Given the description of an element on the screen output the (x, y) to click on. 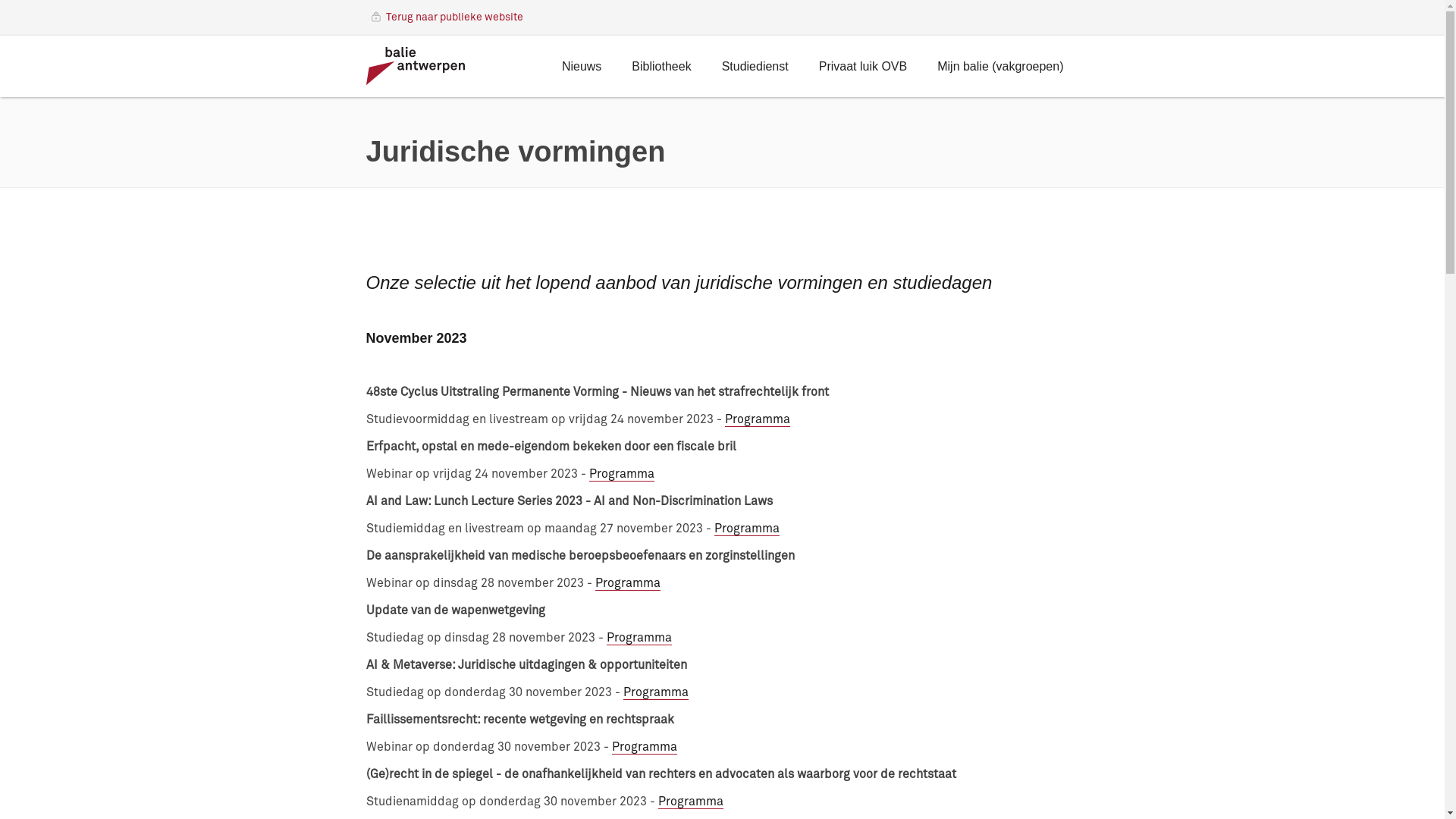
Privaat luik OVB Element type: text (862, 68)
Programma Element type: text (638, 638)
Programma Element type: text (620, 474)
Bibliotheek Element type: text (660, 68)
Programma Element type: text (757, 419)
Programma Element type: text (746, 529)
Programma Element type: text (690, 802)
Programma Element type: text (626, 583)
Terug naar publieke website Element type: text (453, 17)
Studiedienst Element type: text (754, 68)
Programma Element type: text (643, 747)
Nieuws Element type: text (581, 68)
Mijn balie (vakgroepen) Element type: text (1000, 68)
Programma Element type: text (655, 692)
